Given the description of an element on the screen output the (x, y) to click on. 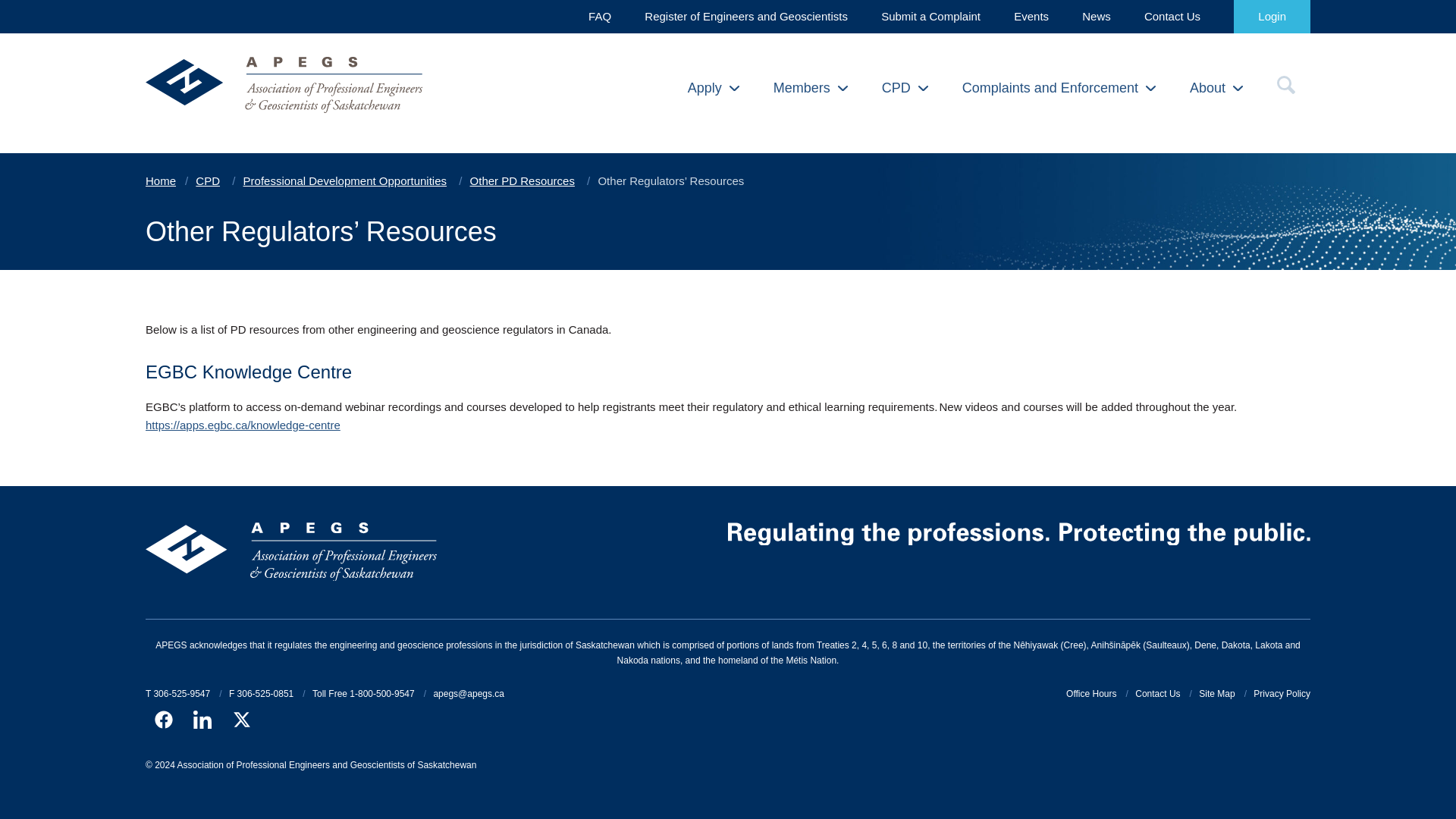
Facebook (163, 720)
X (242, 720)
APEGS (290, 87)
LinkedIn (202, 720)
Members (810, 87)
Apply (713, 87)
